Given the description of an element on the screen output the (x, y) to click on. 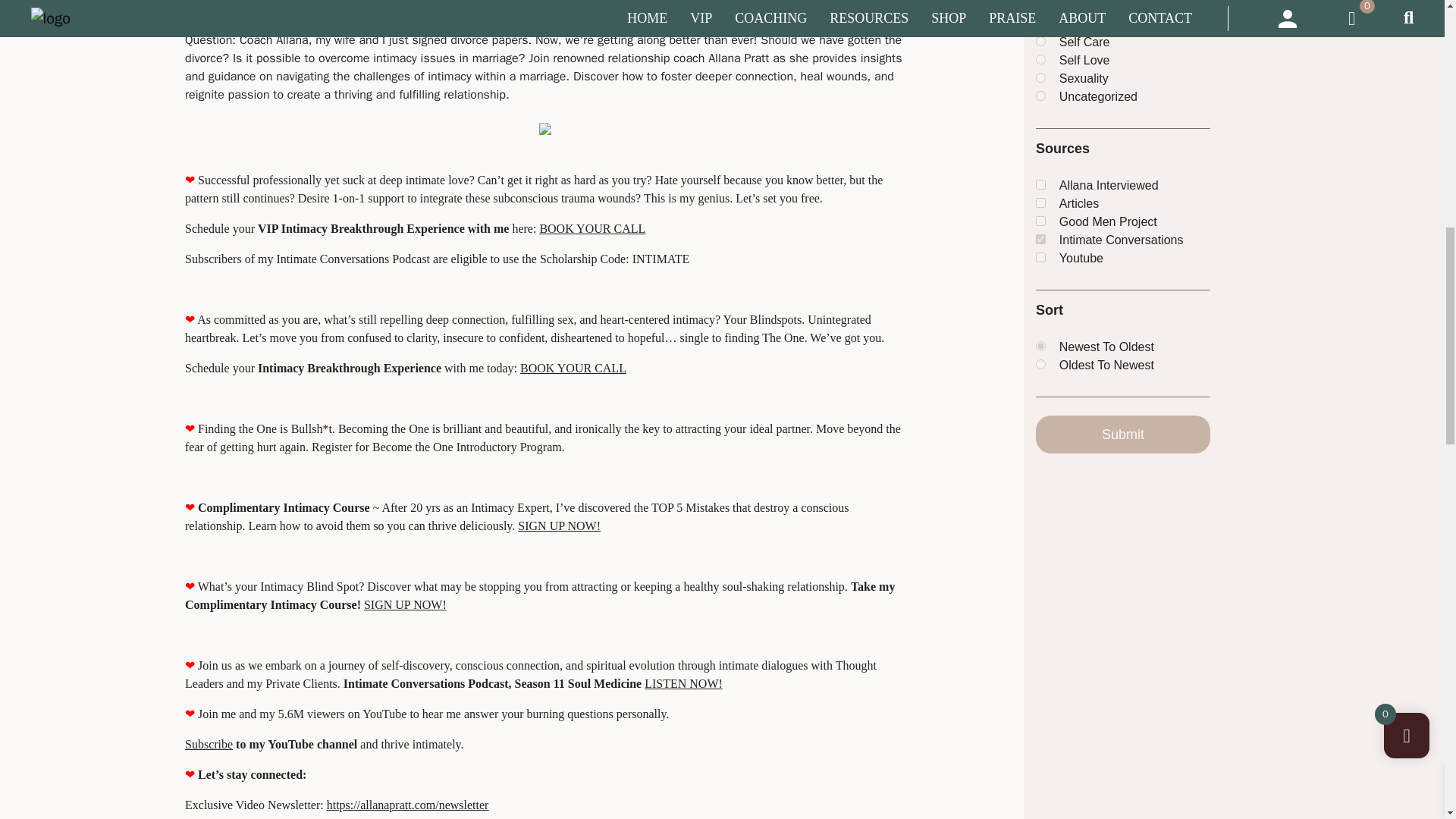
intimate-conversations (1040, 239)
self-love (1040, 59)
Subscribe (208, 744)
uncategorized (1040, 95)
good-men-project (1040, 221)
SIGN UP NOW! (558, 525)
allana-interviewed (1040, 184)
BOOK YOUR CALL (591, 228)
YouTube video player (397, 3)
LISTEN NOW! (683, 683)
